Given the description of an element on the screen output the (x, y) to click on. 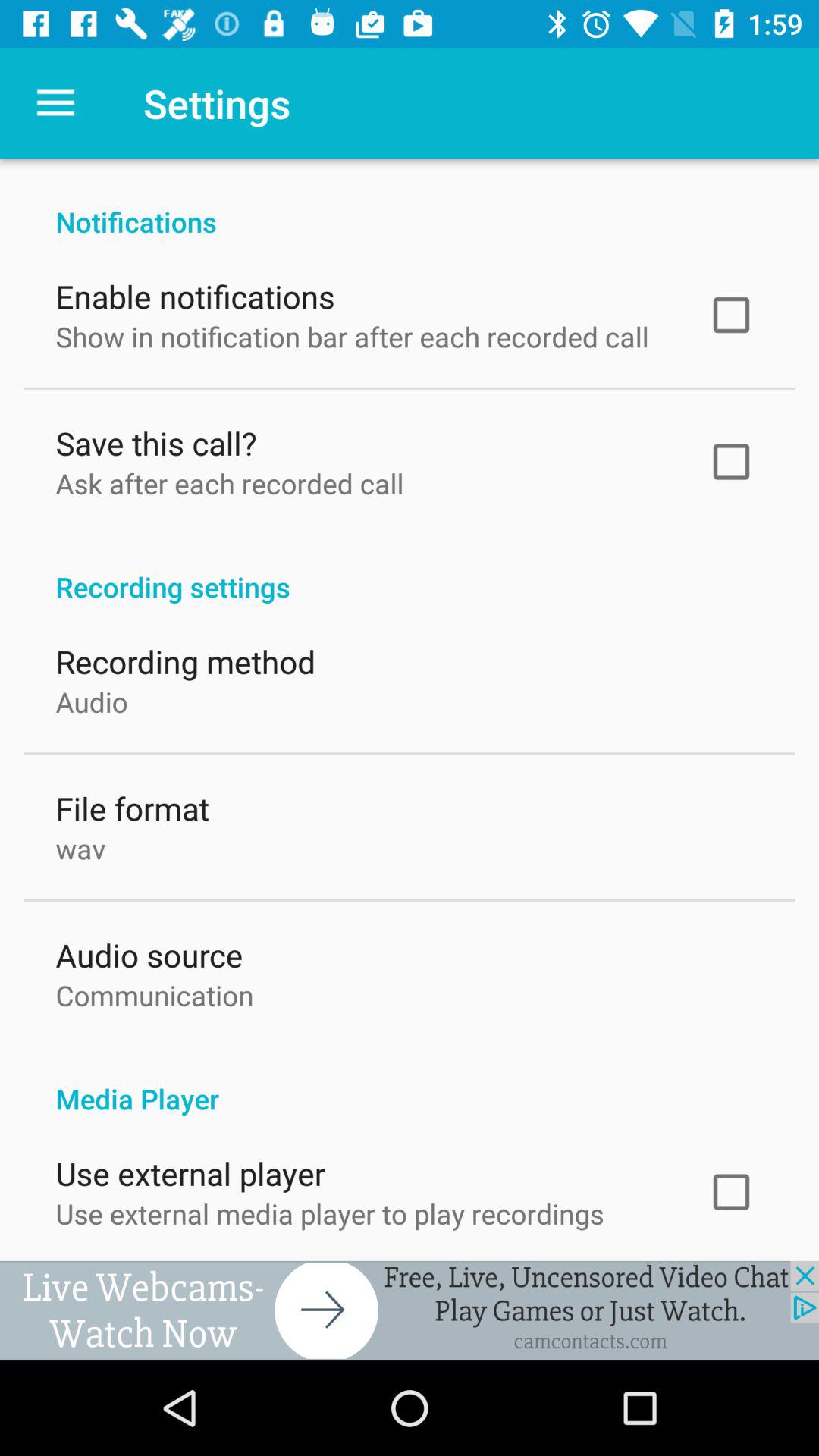
swipe until the enable notifications (194, 292)
